Given the description of an element on the screen output the (x, y) to click on. 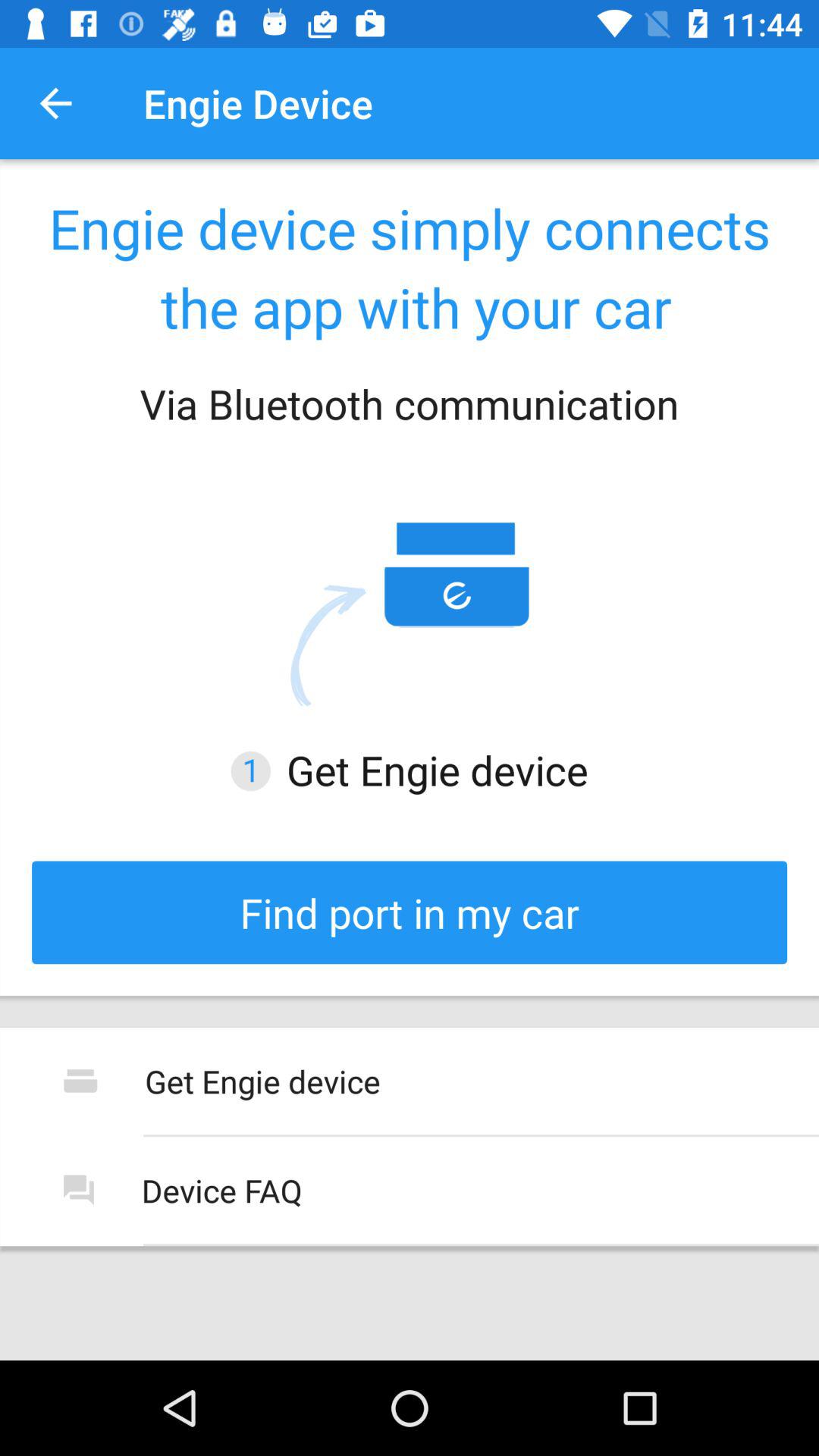
launch item above the get engie device item (409, 912)
